Given the description of an element on the screen output the (x, y) to click on. 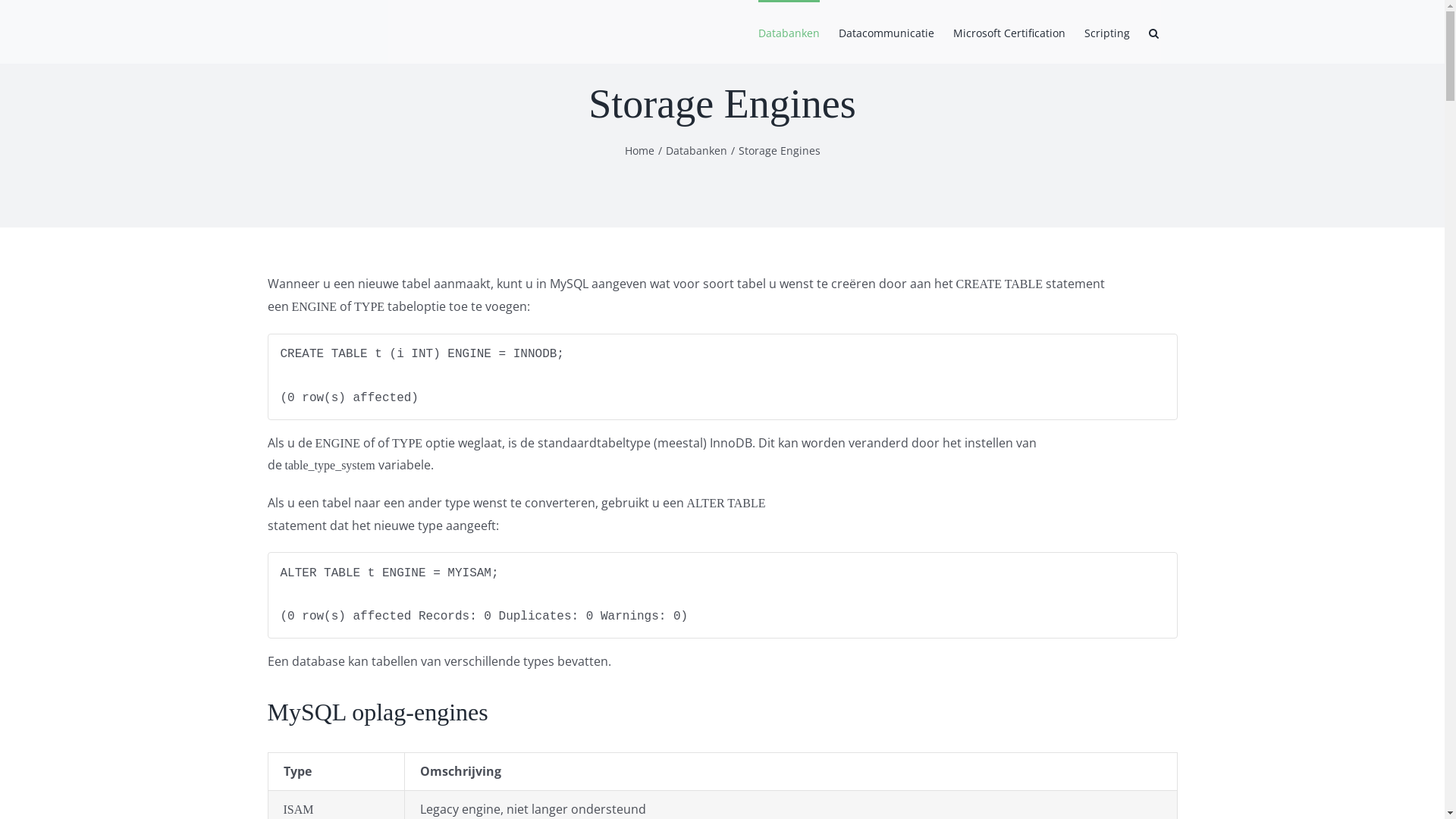
Datacommunicatie Element type: text (886, 31)
Home Element type: text (639, 150)
Databanken Element type: text (788, 31)
Microsoft Certification Element type: text (1008, 31)
Zoeken Element type: hover (1152, 31)
Scripting Element type: text (1106, 31)
Databanken Element type: text (696, 150)
